Given the description of an element on the screen output the (x, y) to click on. 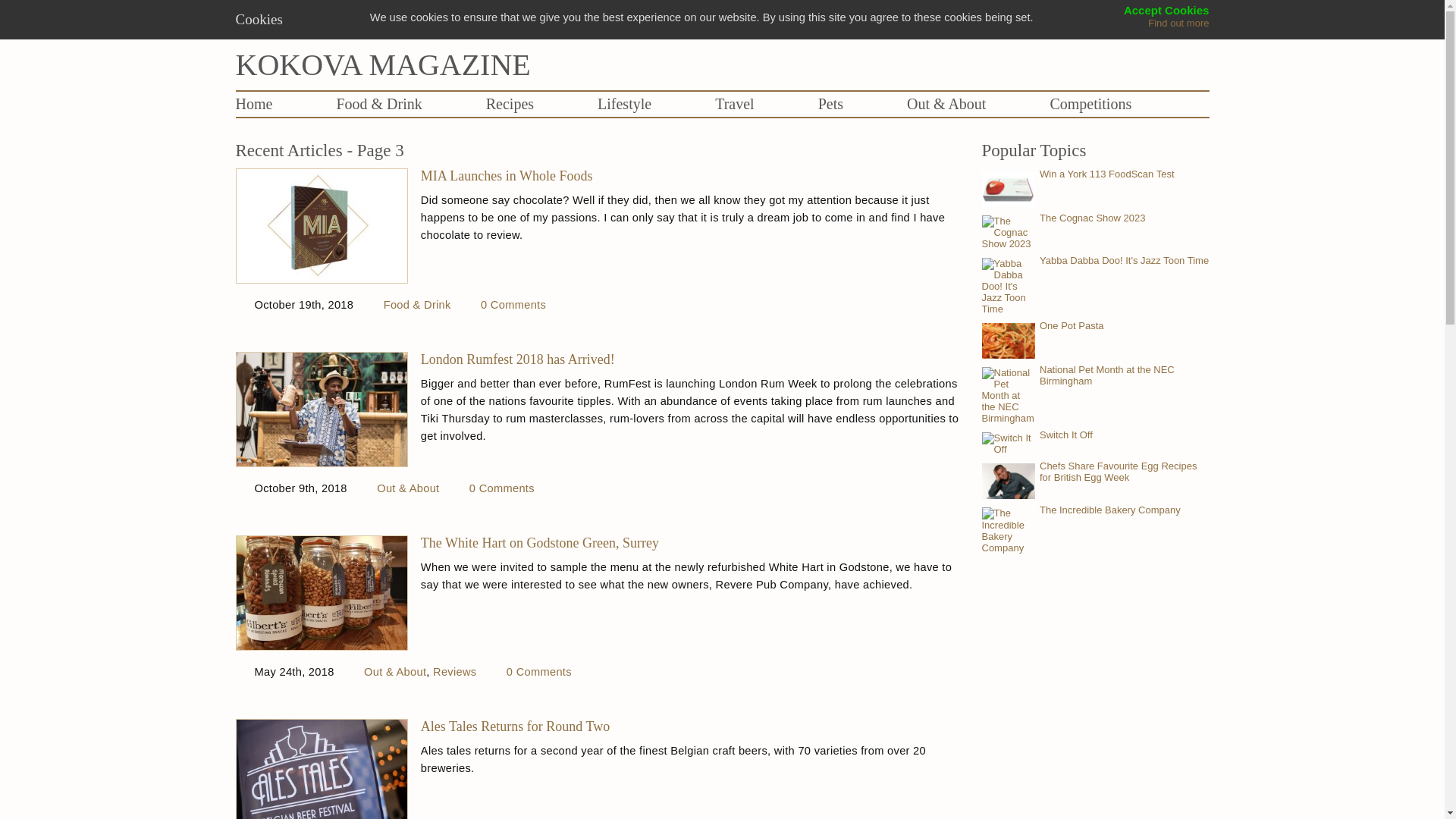
View the Reviews channel. (454, 671)
London Rumfest 2018 has Arrived! (691, 359)
London Rumfest 2018 has Arrived! (691, 359)
MIA Launches in Whole Foods (691, 176)
Recipes (510, 103)
The White Hart on Godstone Green, Surrey (691, 543)
Kokova Magazine. (555, 64)
0 Comments (539, 671)
Home (253, 103)
Ales Tales Returns for Round Two (691, 726)
Find out more (1178, 22)
Travel (734, 103)
0 Comments (501, 488)
View comments. (513, 304)
Ales Tales Returns for Round Two (691, 726)
